Given the description of an element on the screen output the (x, y) to click on. 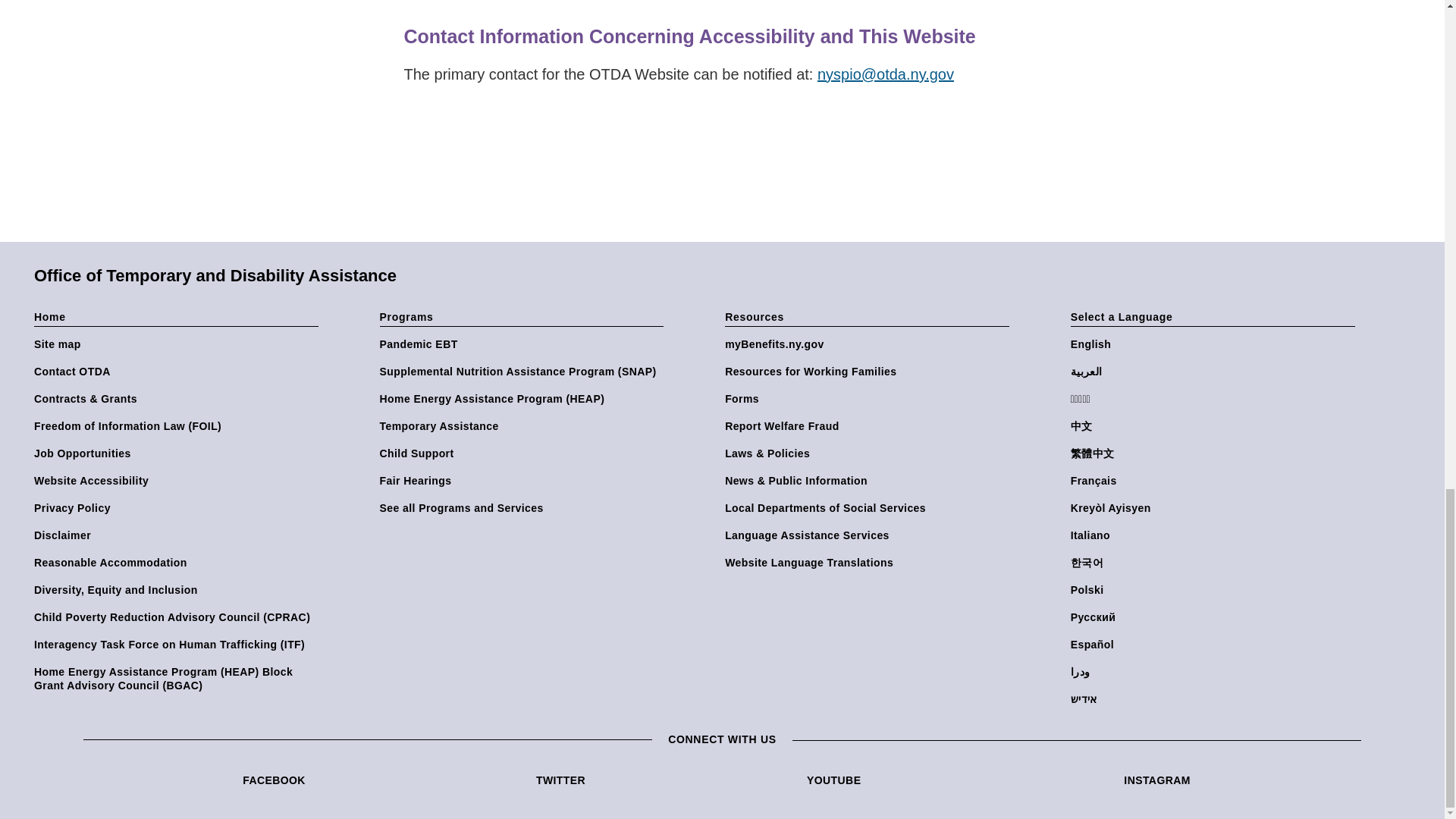
Traditional Chinese (1215, 453)
Website Accessibility (178, 480)
Send e-mail to OTDA Public Information Officer (892, 74)
Korean (1215, 562)
Simplified Chinese (1215, 426)
Disclaimer (178, 535)
Spanish (1215, 644)
See all Programs and Services (524, 508)
Haitian-Creole (1215, 508)
Reasonable Accommodation (178, 562)
